Given the description of an element on the screen output the (x, y) to click on. 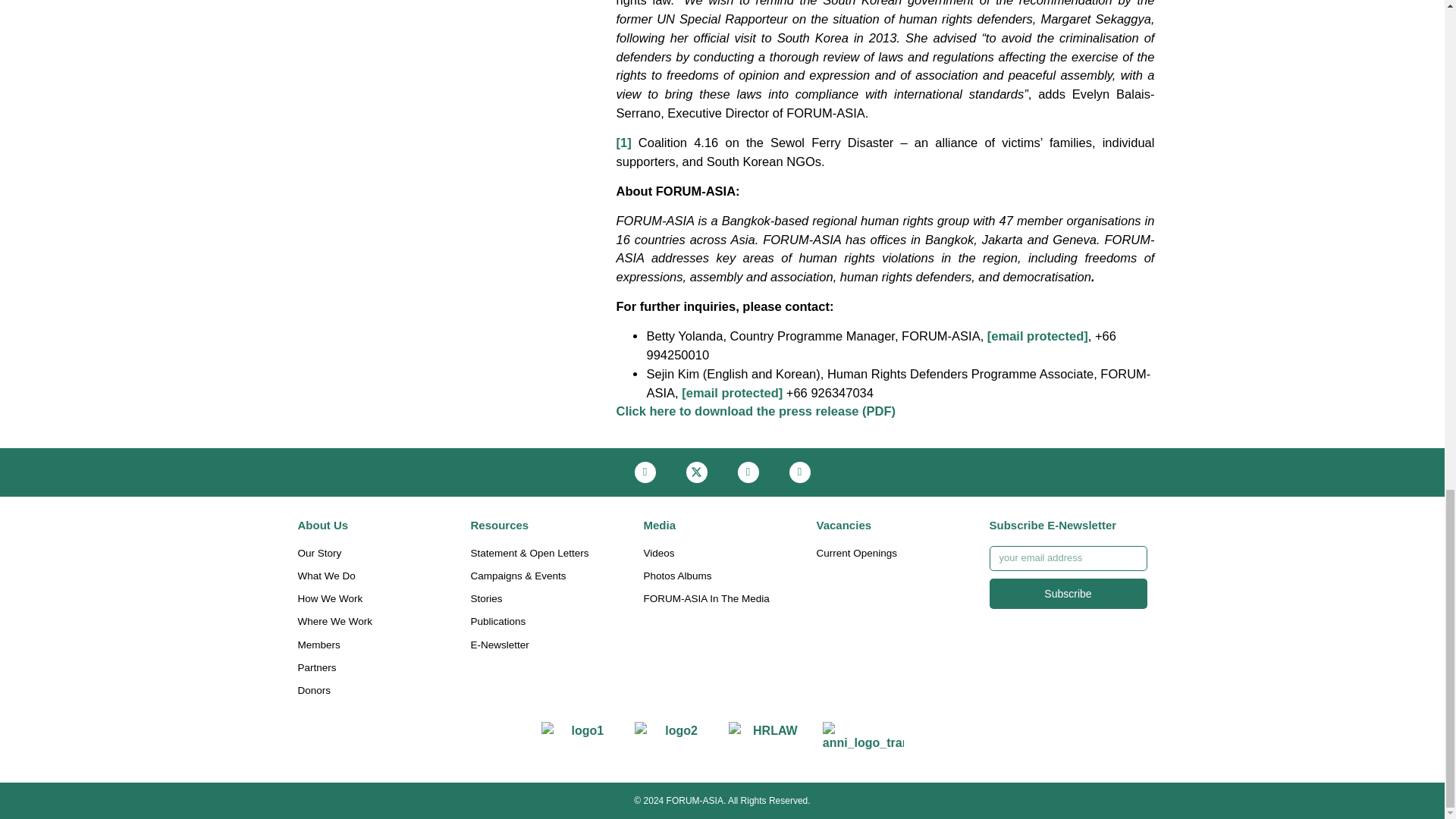
Default Title (675, 741)
Default Title (863, 741)
Logo (769, 741)
Default Title (582, 741)
